Given the description of an element on the screen output the (x, y) to click on. 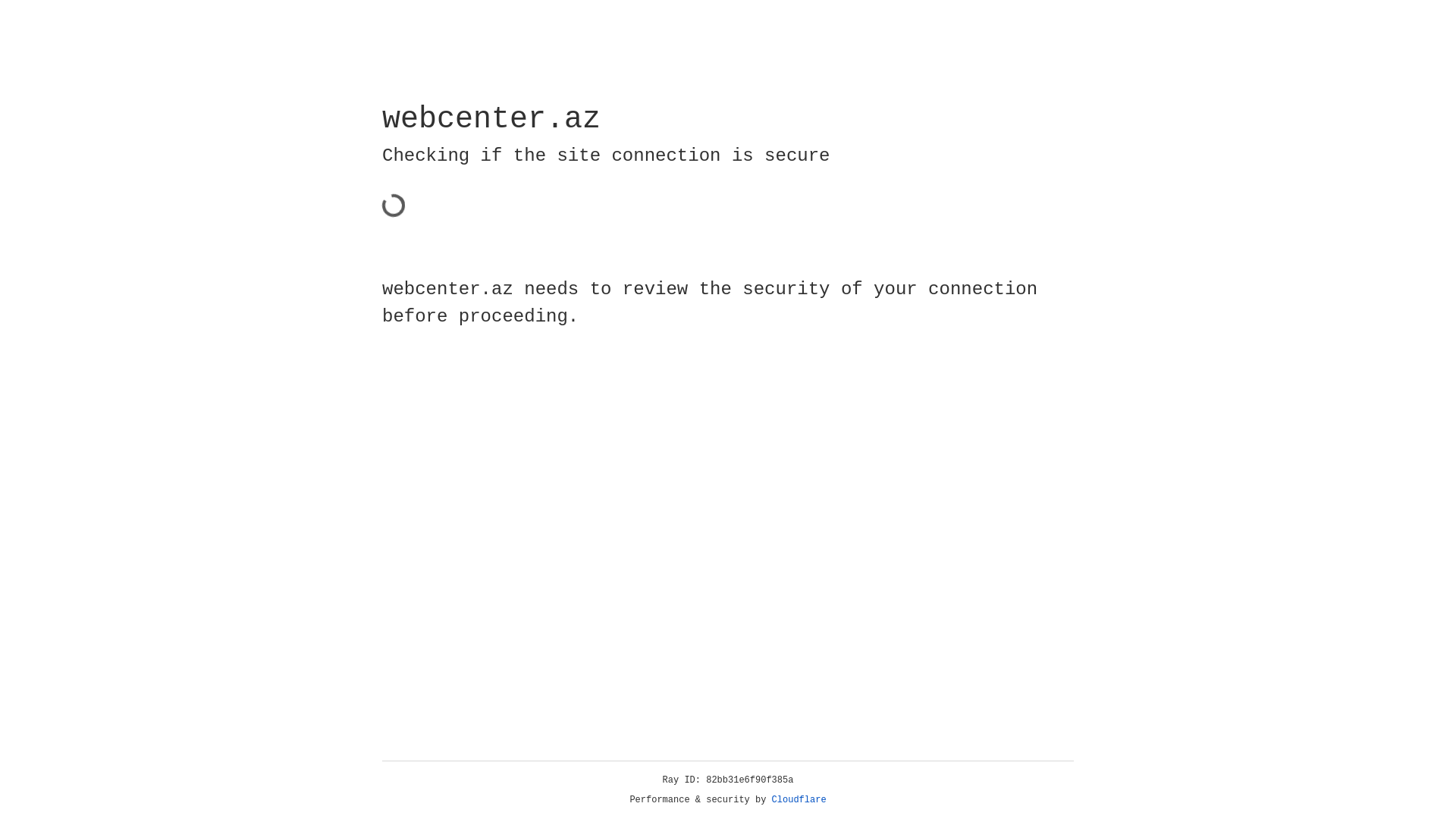
Cloudflare Element type: text (165, 107)
